Given the description of an element on the screen output the (x, y) to click on. 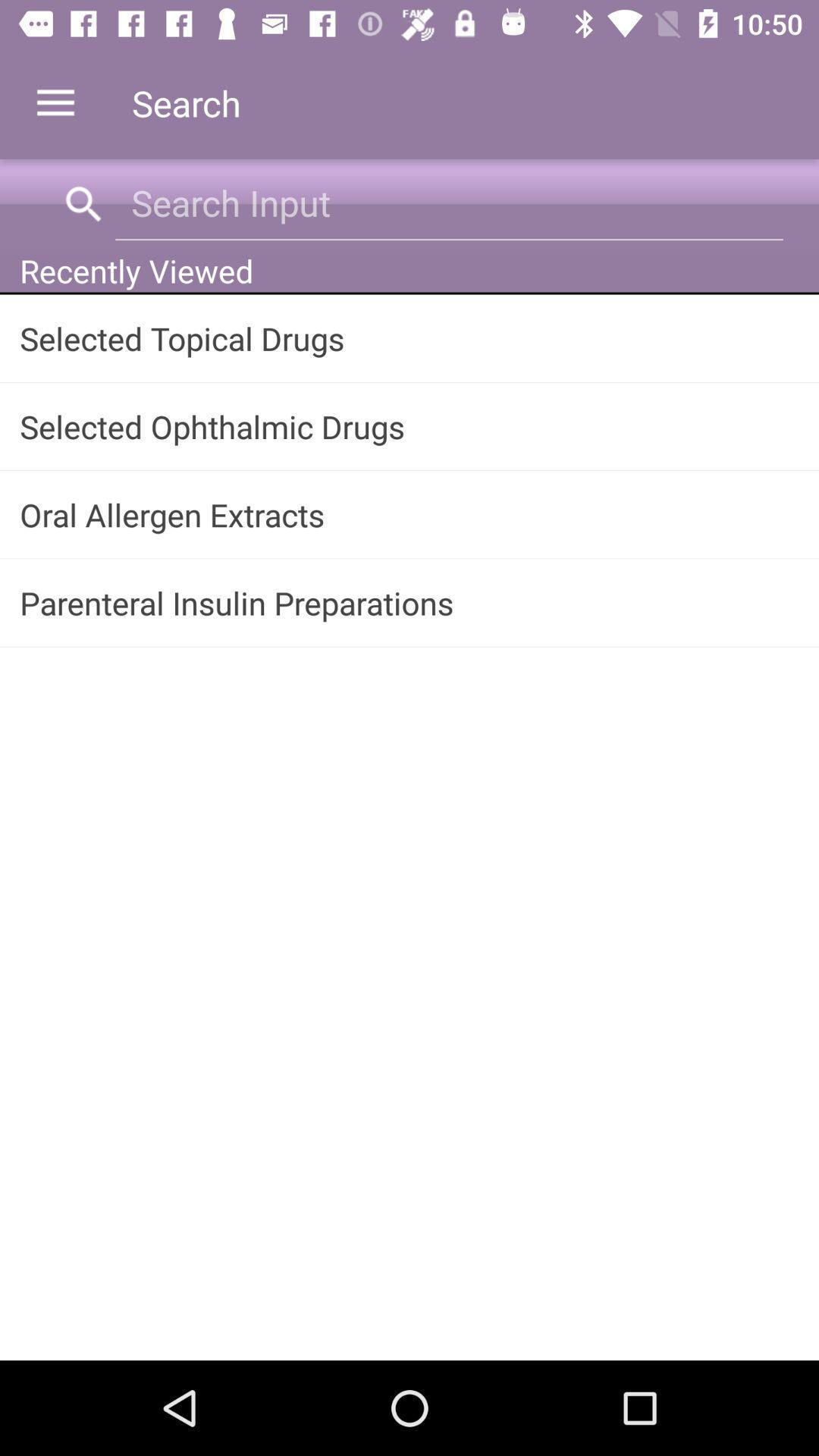
click the app below oral allergen extracts icon (409, 602)
